Given the description of an element on the screen output the (x, y) to click on. 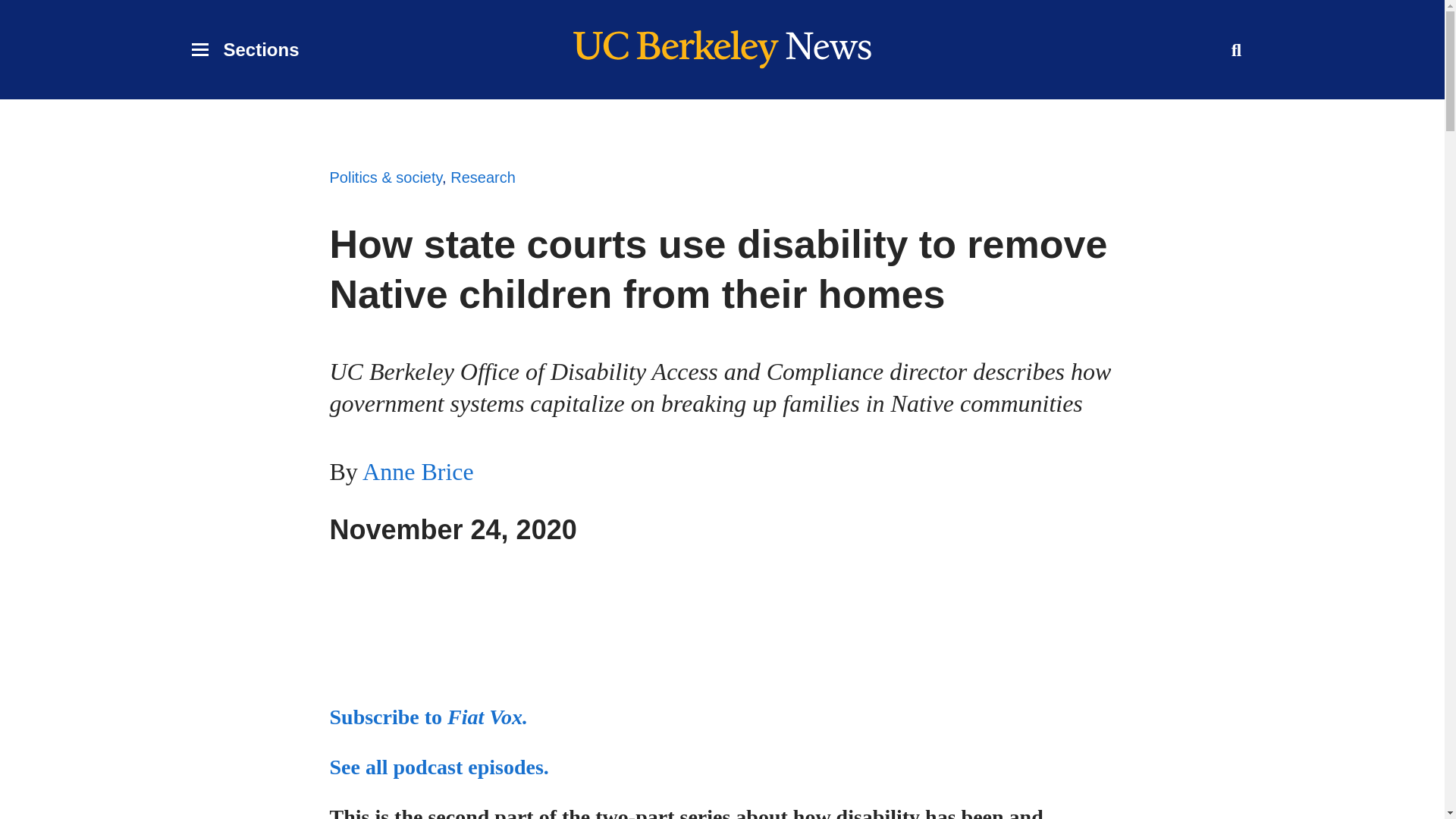
Subscribe to Fiat Vox. (428, 716)
Research (482, 176)
Anne Brice (244, 49)
See all podcast episodes. (418, 471)
Expand Search Form (438, 766)
